Given the description of an element on the screen output the (x, y) to click on. 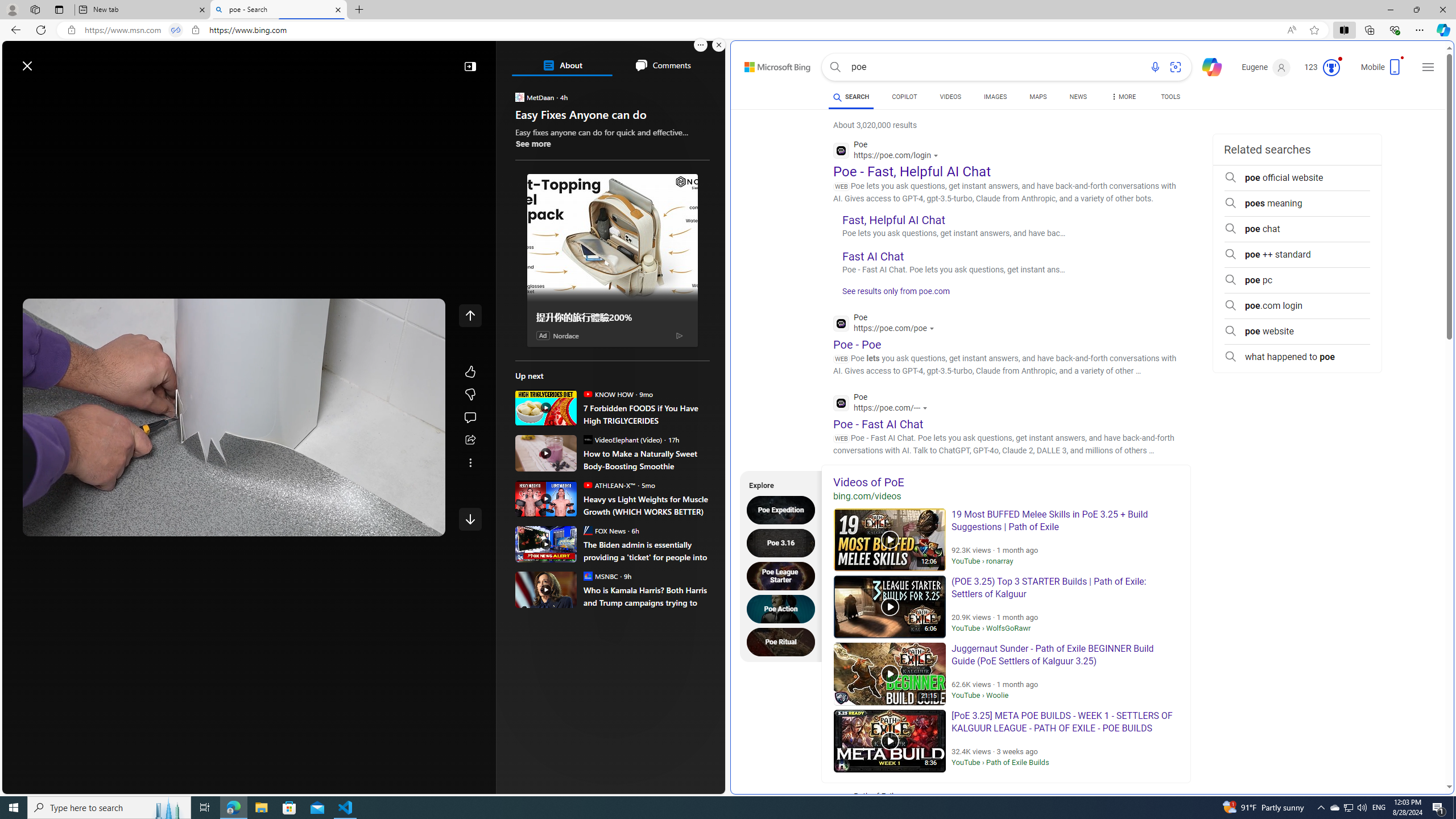
MAPS (1038, 98)
Summer Sale! Up to -55% (616, 515)
More options. (700, 45)
Search using voice (1154, 66)
Captions (383, 523)
Poe - Fast, Helpful AI Chat (911, 170)
Actions for this site (926, 408)
Poe - Poe (856, 344)
7 Forbidden FOODS if You Have High TRIGLYCERIDES (646, 414)
